Given the description of an element on the screen output the (x, y) to click on. 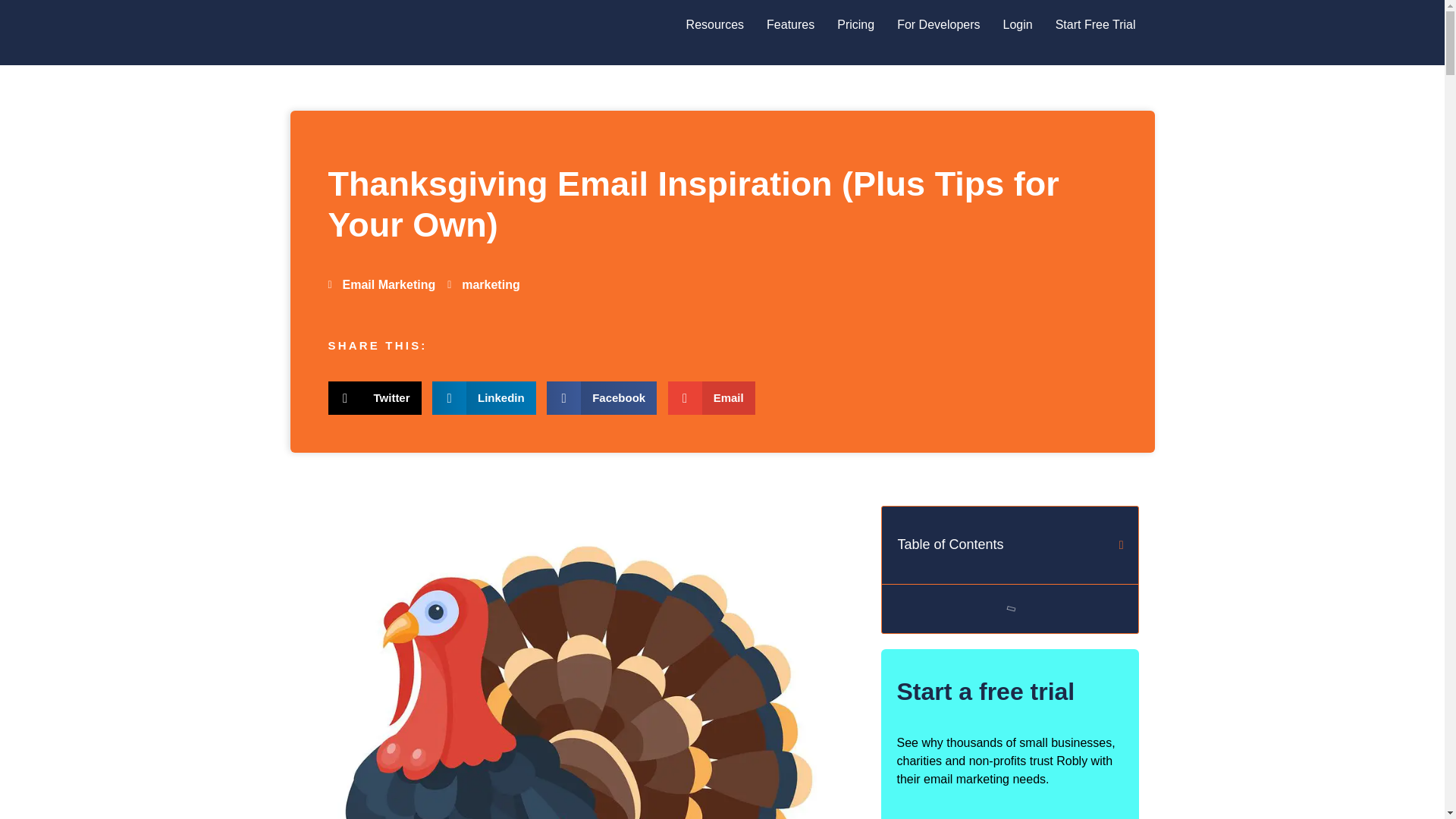
Pricing (855, 24)
Email (710, 397)
Twitter (374, 397)
Login (1017, 24)
Facebook (602, 397)
For Developers (938, 24)
Features (790, 24)
Linkedin (484, 397)
Resources (715, 24)
Start Free Trial (1095, 24)
Email Marketing (388, 284)
marketing (482, 285)
